Given the description of an element on the screen output the (x, y) to click on. 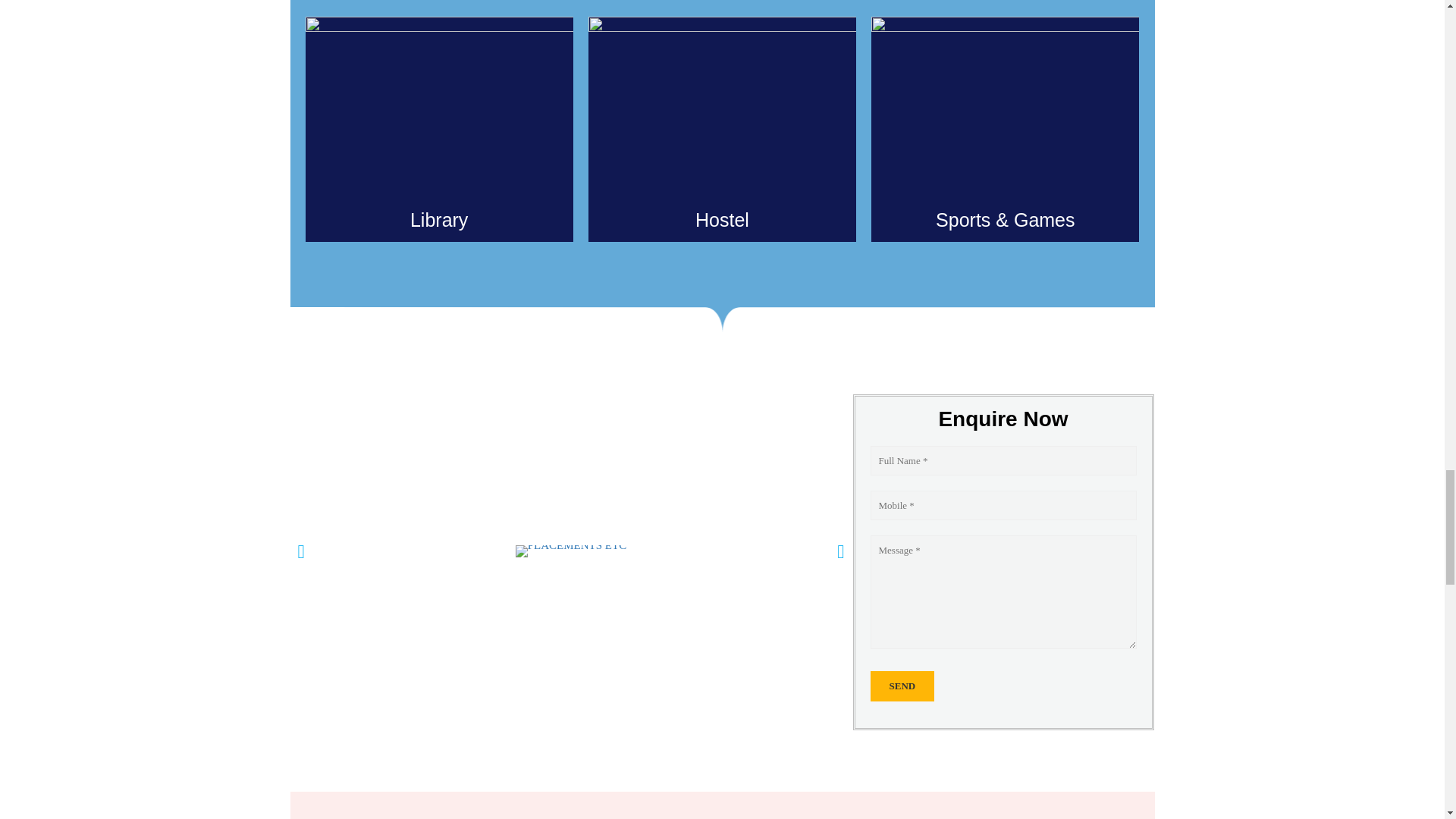
Send (902, 685)
